Given the description of an element on the screen output the (x, y) to click on. 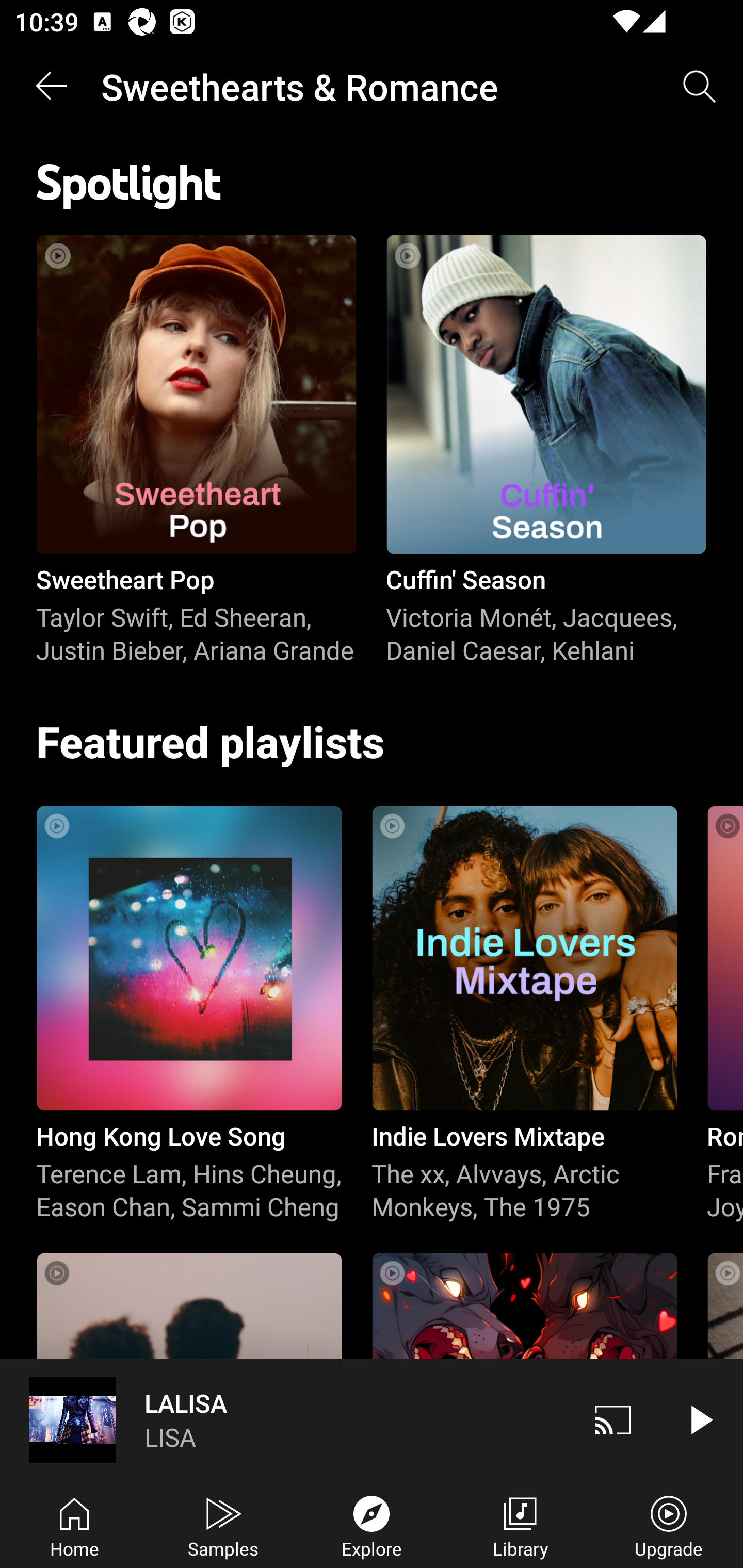
Back (50, 86)
Search (699, 86)
LALISA LISA (284, 1419)
Cast. Disconnected (612, 1419)
Play video (699, 1419)
Home (74, 1524)
Samples (222, 1524)
Library (519, 1524)
Upgrade (668, 1524)
